Given the description of an element on the screen output the (x, y) to click on. 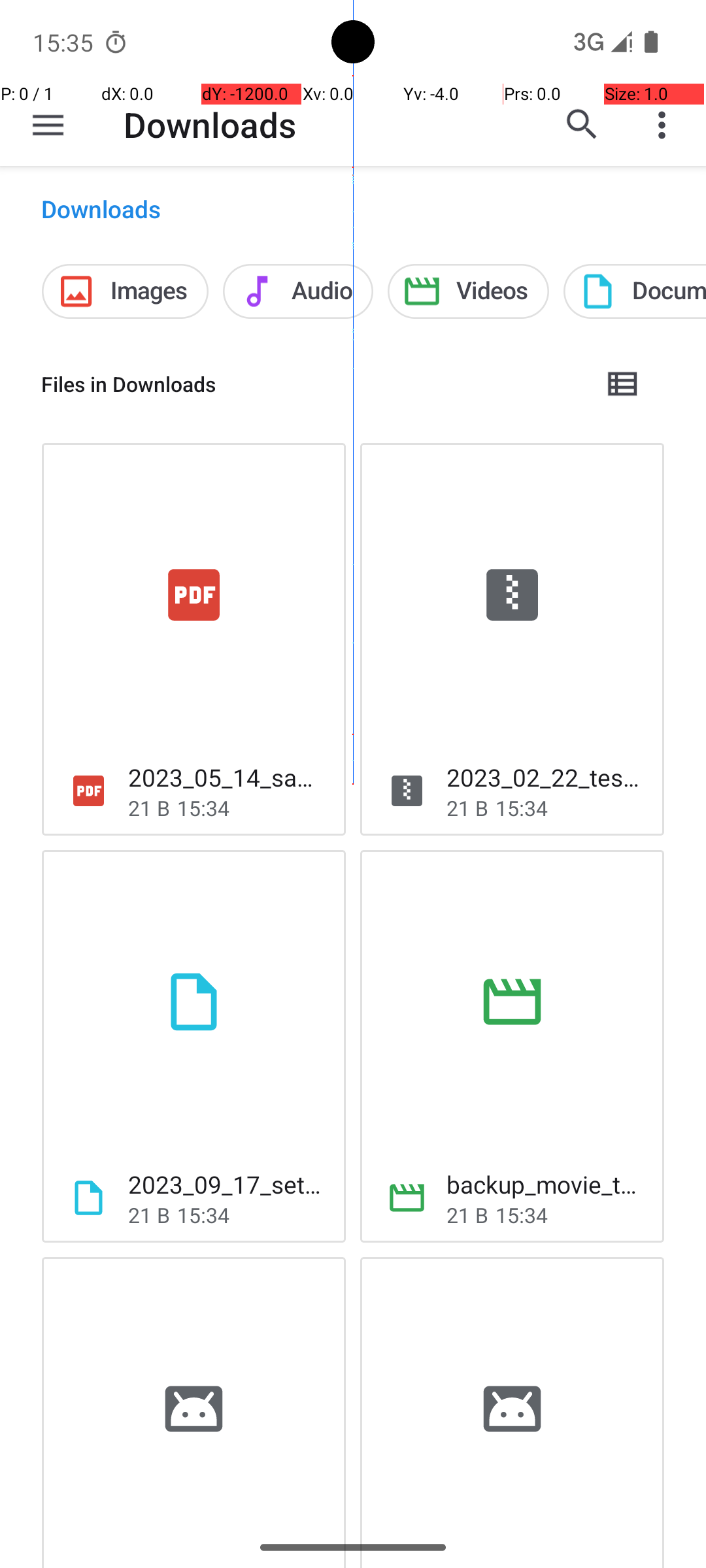
2023_05_14_sample_pdf.pdf Element type: android.widget.TextView (226, 776)
2023_02_22_test_download.zip Element type: android.widget.TextView (544, 776)
2023_09_17_setup_exe.exe Element type: android.widget.TextView (226, 1183)
backup_movie_trailer.mp4 Element type: android.widget.TextView (544, 1183)
